Given the description of an element on the screen output the (x, y) to click on. 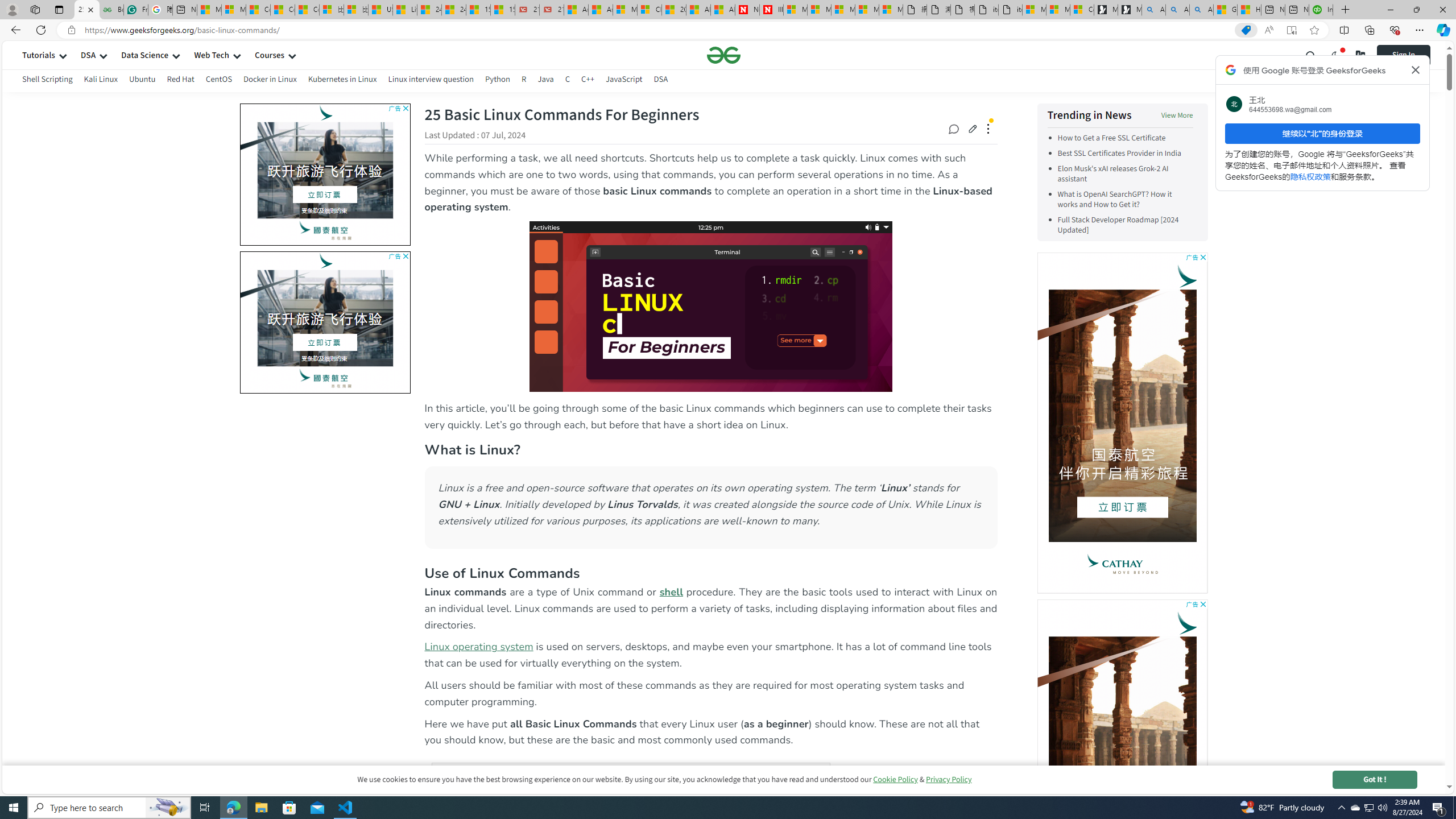
R (523, 79)
Python (497, 79)
Elon Musk's xAI releases Grok-2 AI assistant (1125, 173)
C (567, 80)
USA TODAY - MSN (380, 9)
Class: Bz112c Bz112c-r9oPif (1415, 69)
AutomationID: bg3 (155, 319)
